Given the description of an element on the screen output the (x, y) to click on. 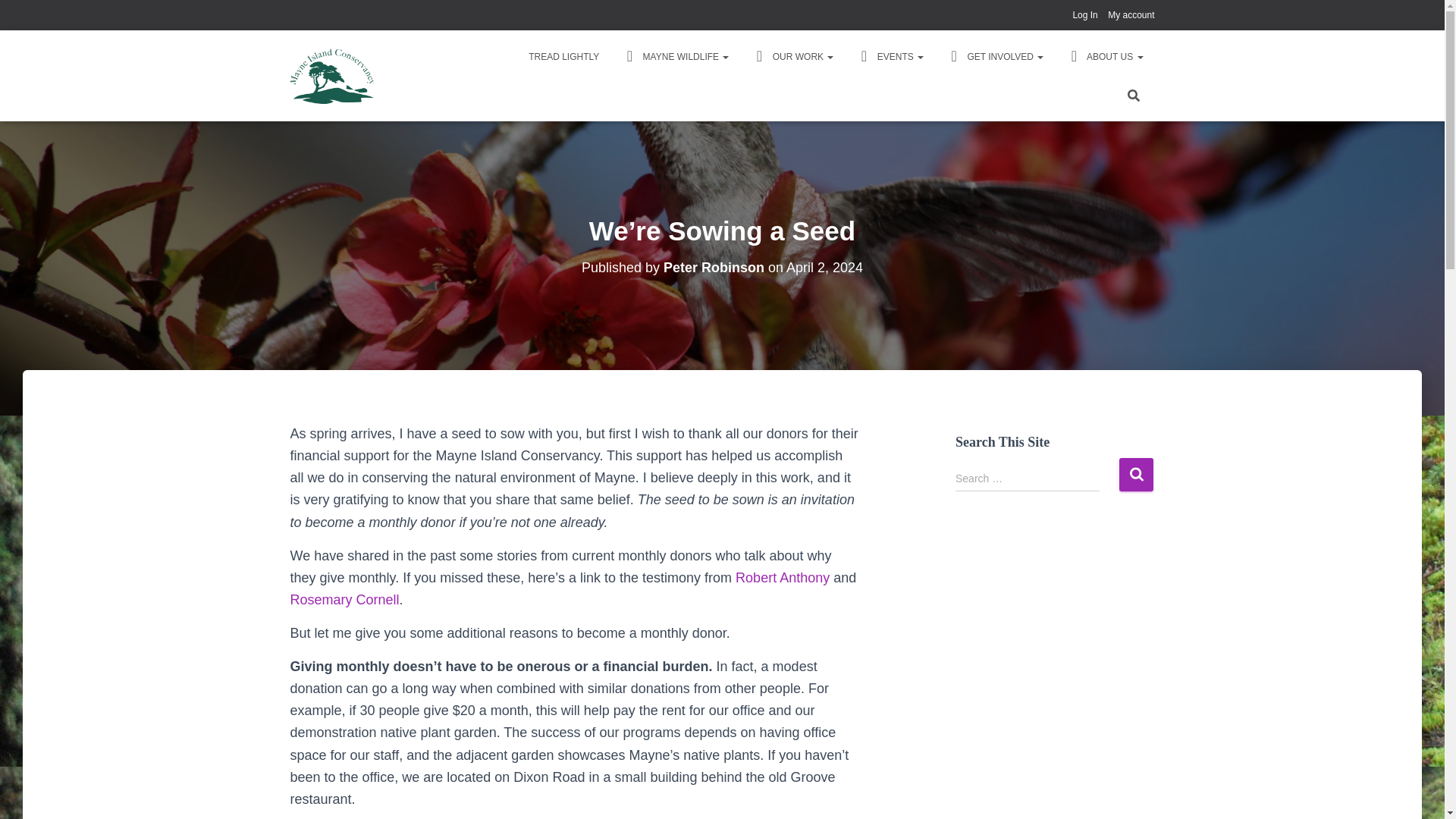
Mayne Island Conservancy (333, 75)
My account (1131, 15)
Log In (1084, 15)
TREAD LIGHTLY (563, 56)
 MAYNE WILDLIFE (674, 56)
Search (1136, 473)
 EVENTS (889, 56)
 GET INVOLVED (994, 56)
fa-bug (674, 56)
Search (1136, 473)
Tread Lightly (563, 56)
 OUR WORK (791, 56)
My account (1131, 15)
fa-leaf (791, 56)
Log In (1084, 15)
